Given the description of an element on the screen output the (x, y) to click on. 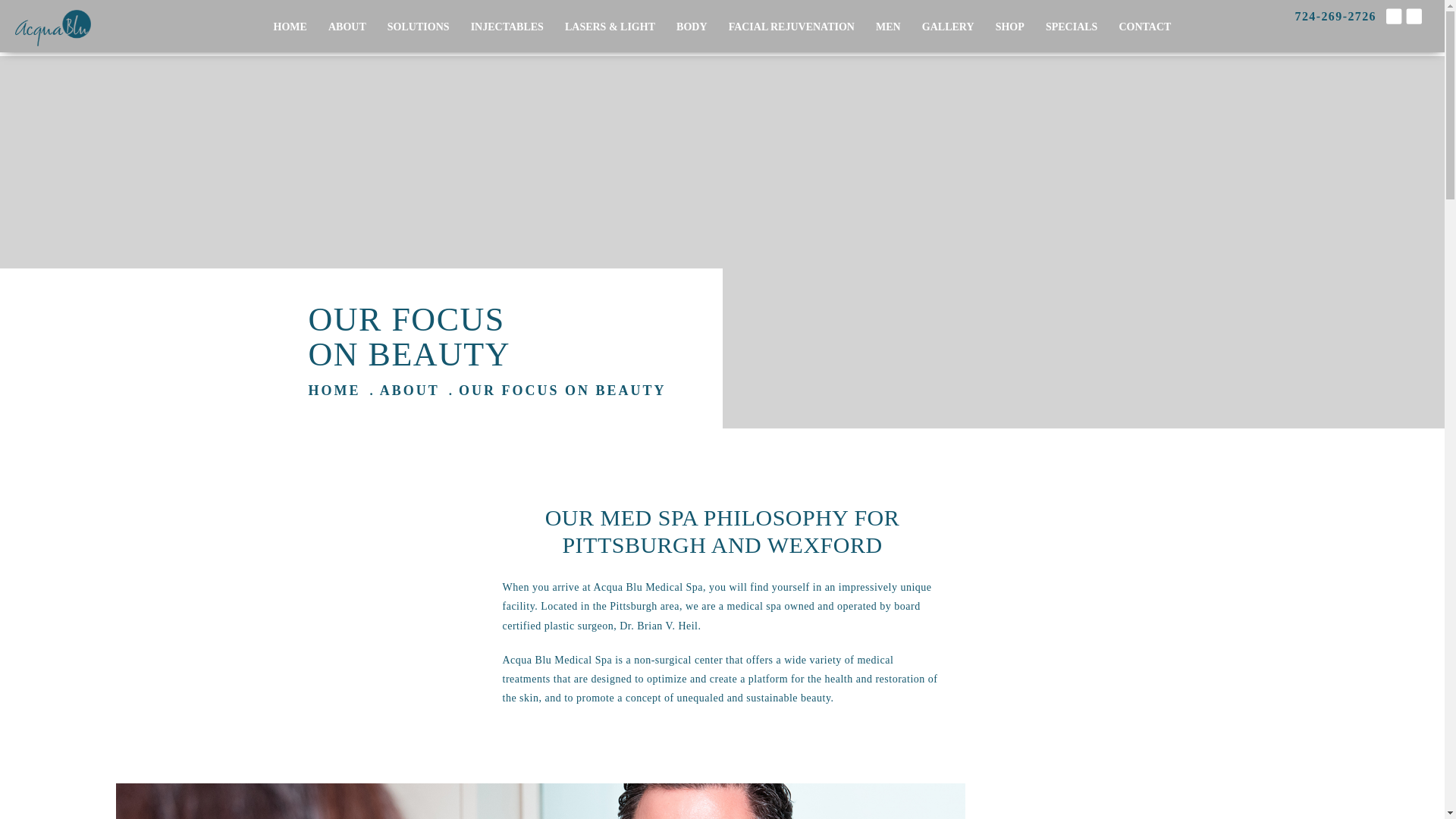
HOME (289, 27)
SOLUTIONS (418, 27)
ABOUT (346, 27)
INJECTABLES (507, 27)
